Given the description of an element on the screen output the (x, y) to click on. 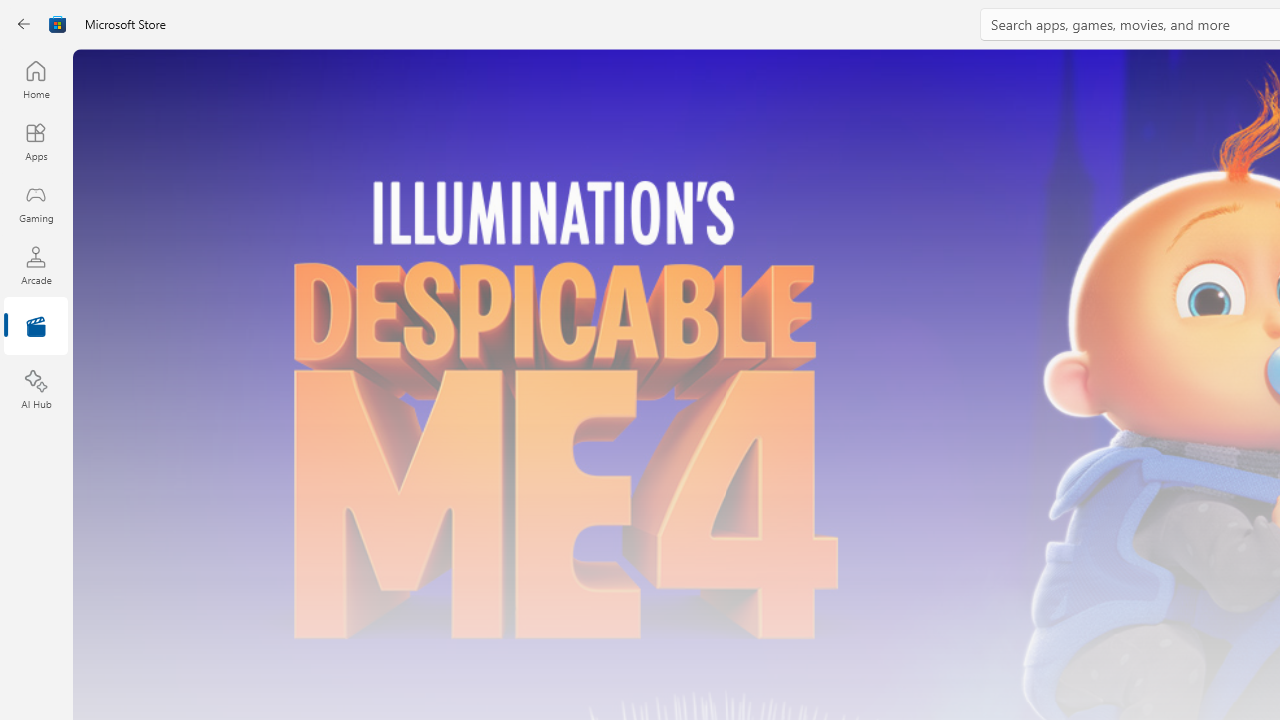
Back (24, 24)
Home (35, 79)
Entertainment (35, 327)
Gaming (35, 203)
Arcade (35, 265)
Apps (35, 141)
AI Hub (35, 390)
Class: Image (58, 24)
